Given the description of an element on the screen output the (x, y) to click on. 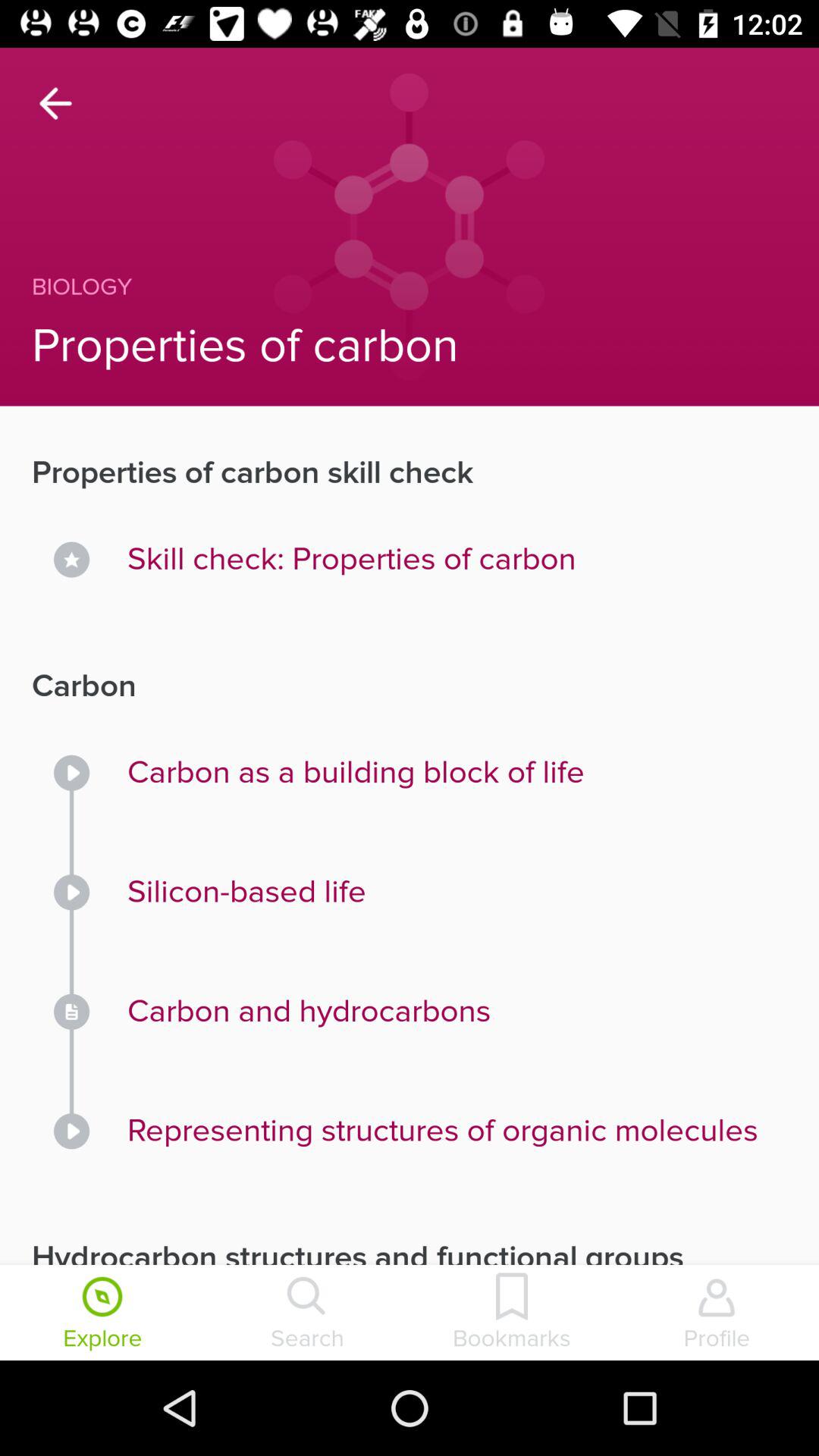
open icon next to the bookmarks item (716, 1314)
